Given the description of an element on the screen output the (x, y) to click on. 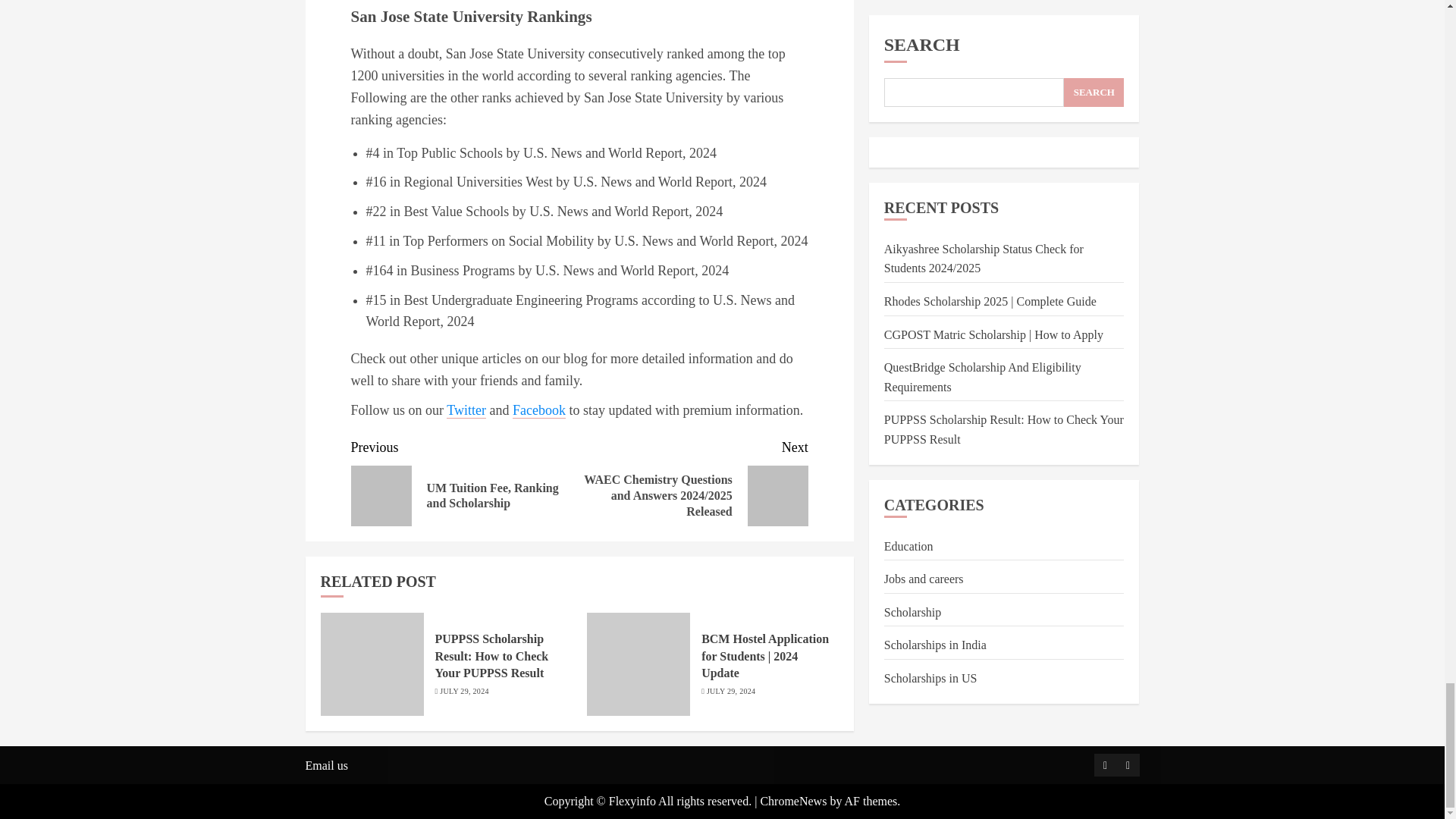
Facebook (539, 410)
Twitter (466, 410)
